Given the description of an element on the screen output the (x, y) to click on. 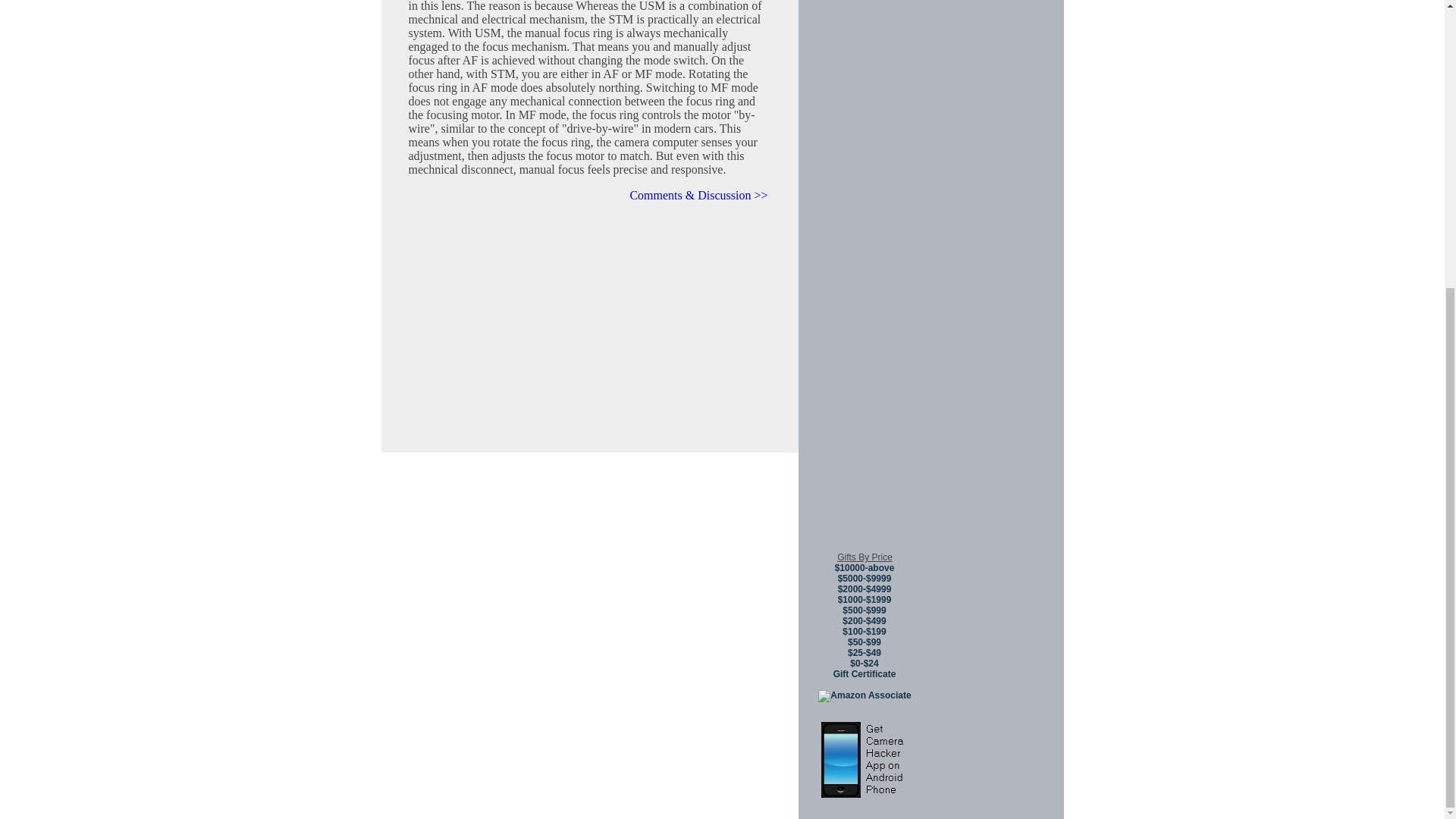
Gift Certificate (864, 674)
